Given the description of an element on the screen output the (x, y) to click on. 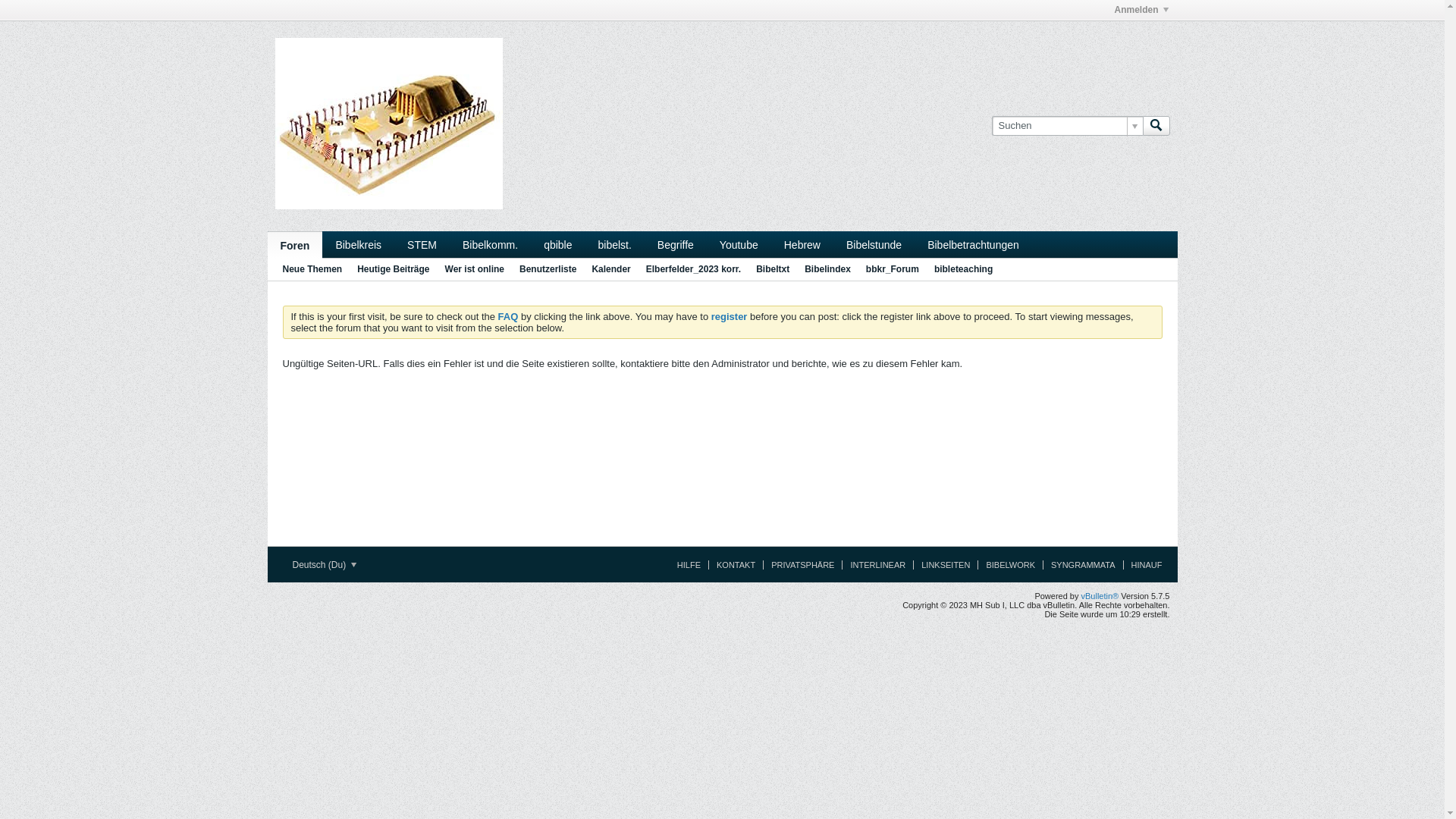
Neue Themen Element type: text (312, 269)
Begriffe Element type: text (675, 244)
Elberfelder_2023 korr. Element type: text (693, 269)
FAQ Element type: text (508, 316)
Bibeltxt Element type: text (772, 269)
Hebrew Element type: text (802, 244)
LINKSEITEN Element type: text (941, 564)
Bibelkomm. Element type: text (489, 244)
Suchen Element type: hover (1155, 125)
Bibelkreis Element type: text (358, 244)
HINAUF Element type: text (1142, 564)
qbible Element type: text (557, 244)
Bibelstunde Element type: text (873, 244)
BIBELWORK Element type: text (1006, 564)
register Element type: text (729, 316)
HILFE Element type: text (684, 564)
Bibelindex Element type: text (827, 269)
Benutzerliste Element type: text (547, 269)
Bibelbetrachtungen Element type: text (973, 244)
bibleteaching Element type: text (963, 269)
SYNGRAMMATA Element type: text (1078, 564)
bibelst. Element type: text (614, 244)
Youtube Element type: text (738, 244)
STEM Element type: text (421, 244)
KONTAKT Element type: text (731, 564)
INTERLINEAR Element type: text (873, 564)
bbkr_Forum Element type: text (892, 269)
Kalender Element type: text (610, 269)
Wer ist online Element type: text (474, 269)
Powered by vBulletin Element type: hover (388, 123)
Foren Element type: text (294, 244)
